Given the description of an element on the screen output the (x, y) to click on. 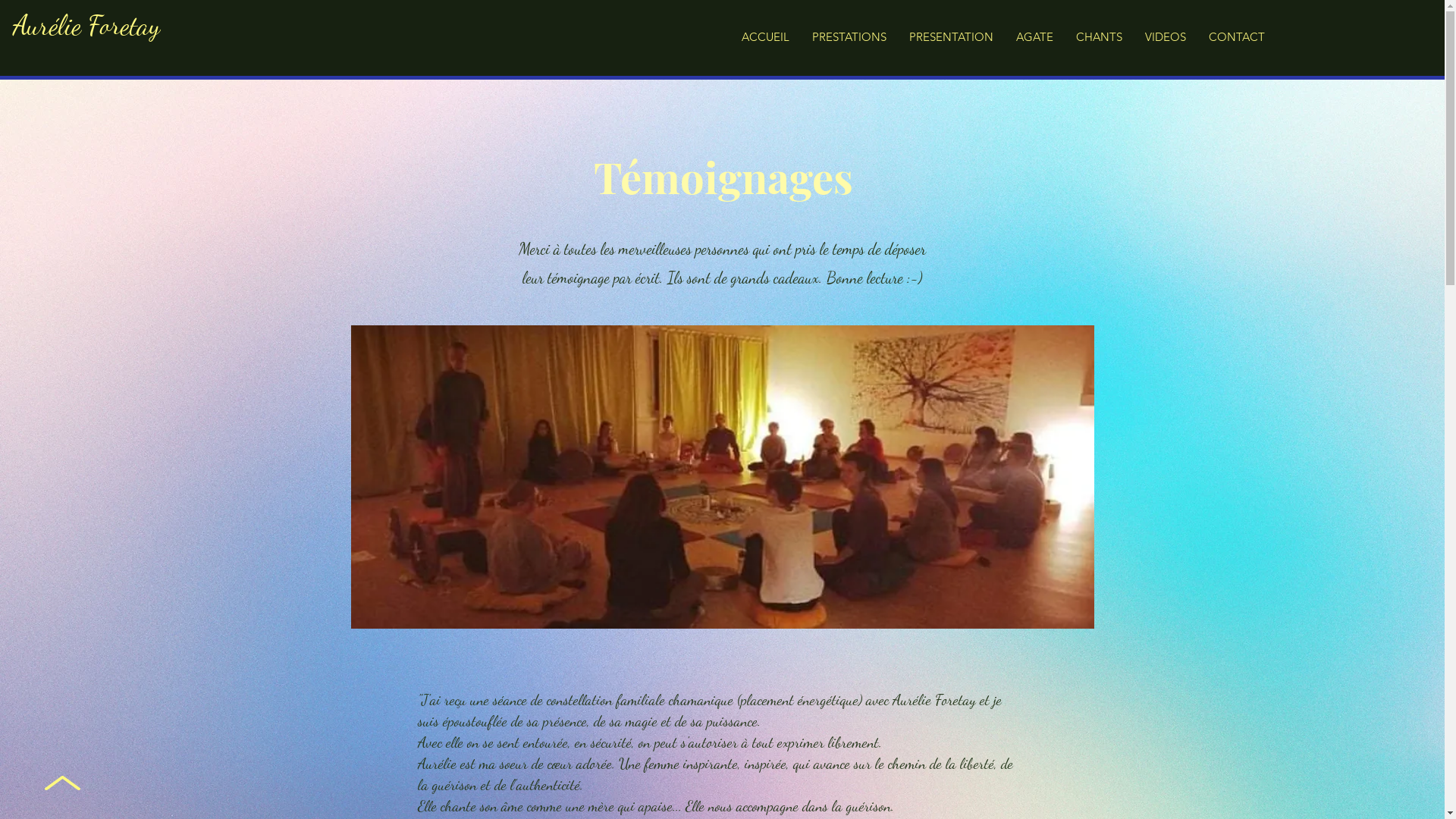
PRESTATIONS Element type: text (848, 36)
CONTACT Element type: text (1236, 36)
AGATE Element type: text (1034, 36)
CHANTS Element type: text (1098, 36)
PRESENTATION Element type: text (950, 36)
VIDEOS Element type: text (1165, 36)
ACCUEIL Element type: text (765, 36)
